Given the description of an element on the screen output the (x, y) to click on. 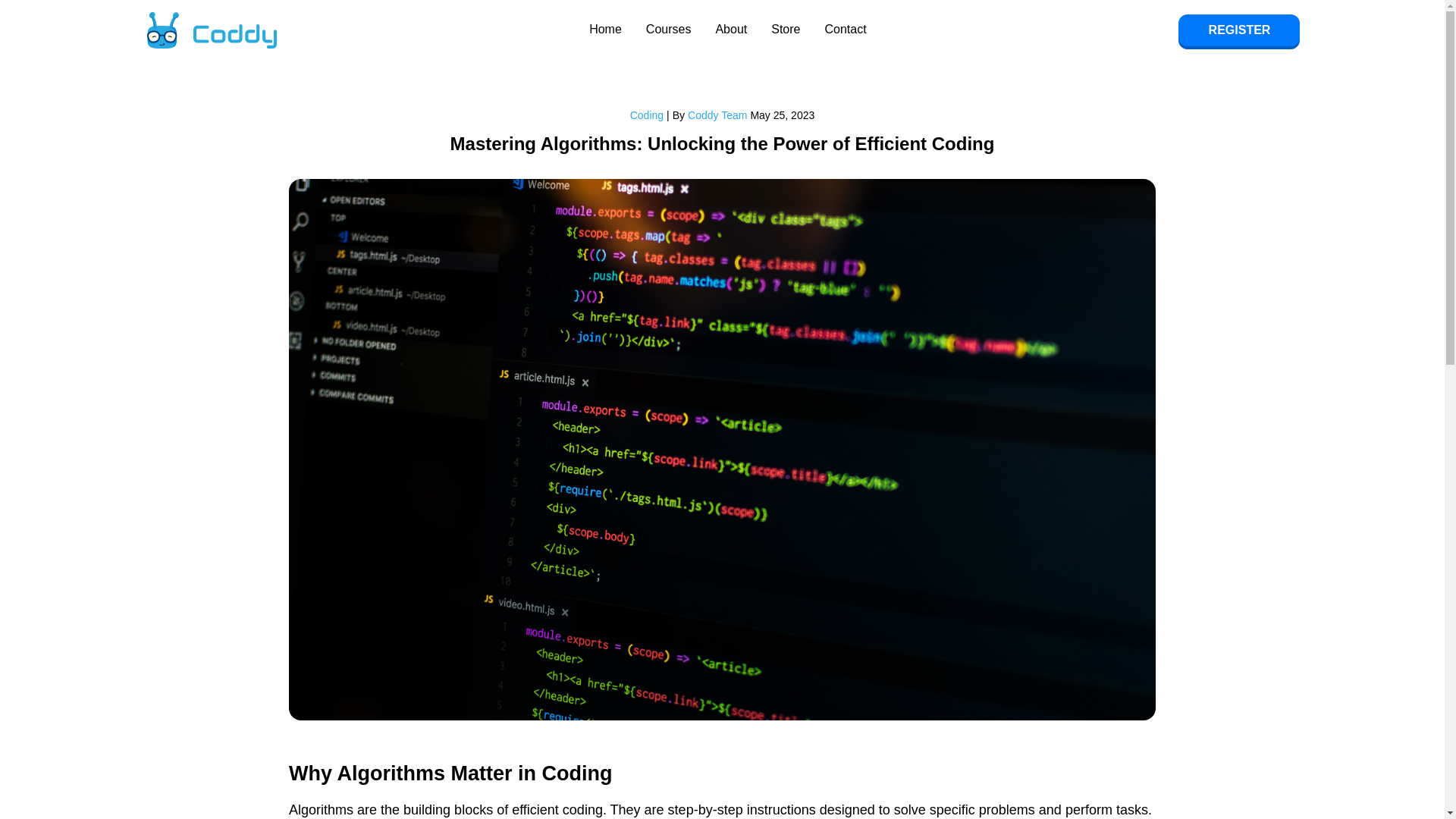
Contact (845, 29)
REGISTER (1238, 29)
Courses (668, 29)
Store (785, 29)
About (730, 29)
Home (605, 29)
